Given the description of an element on the screen output the (x, y) to click on. 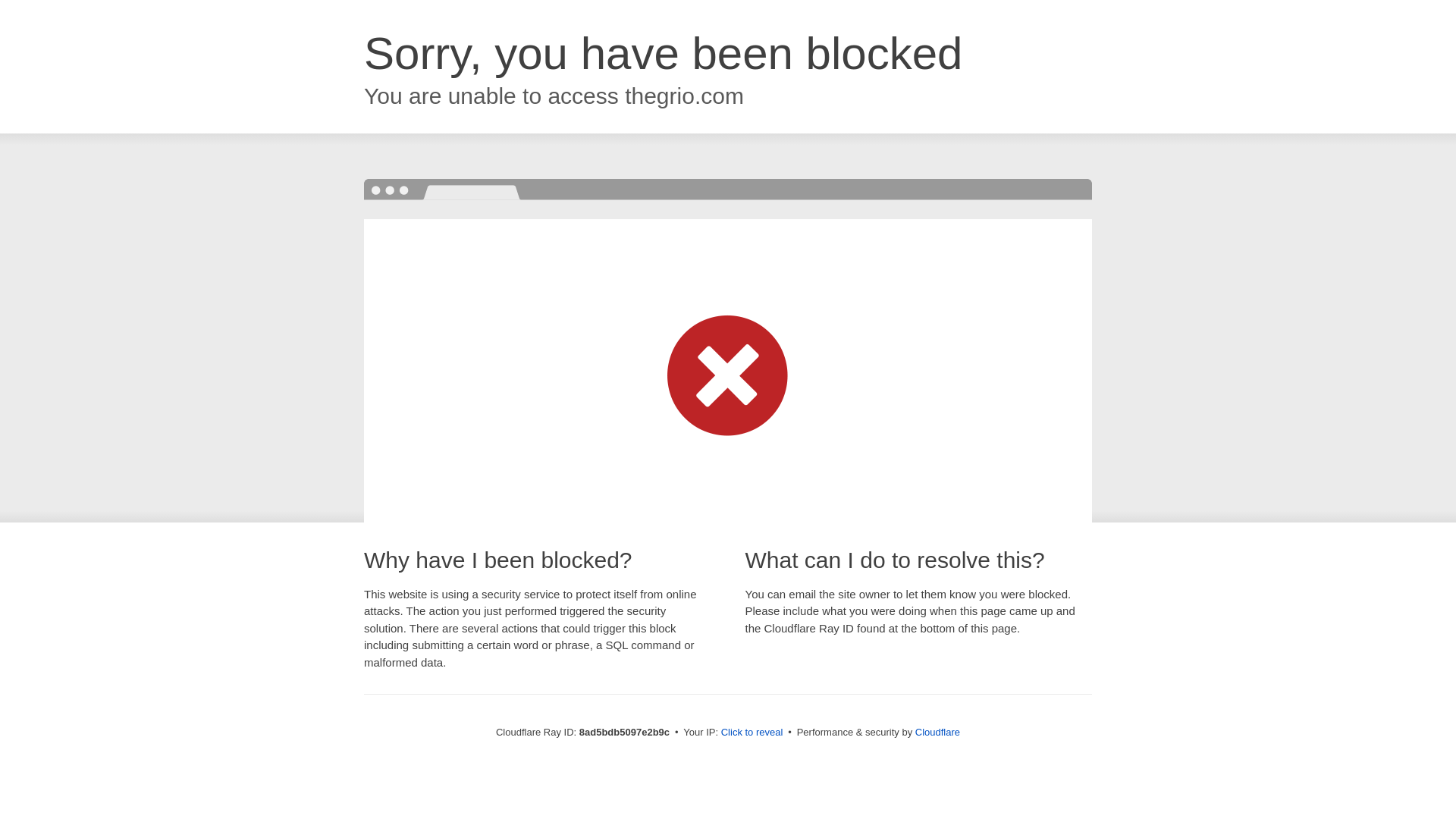
Cloudflare (937, 731)
Click to reveal (751, 732)
